Given the description of an element on the screen output the (x, y) to click on. 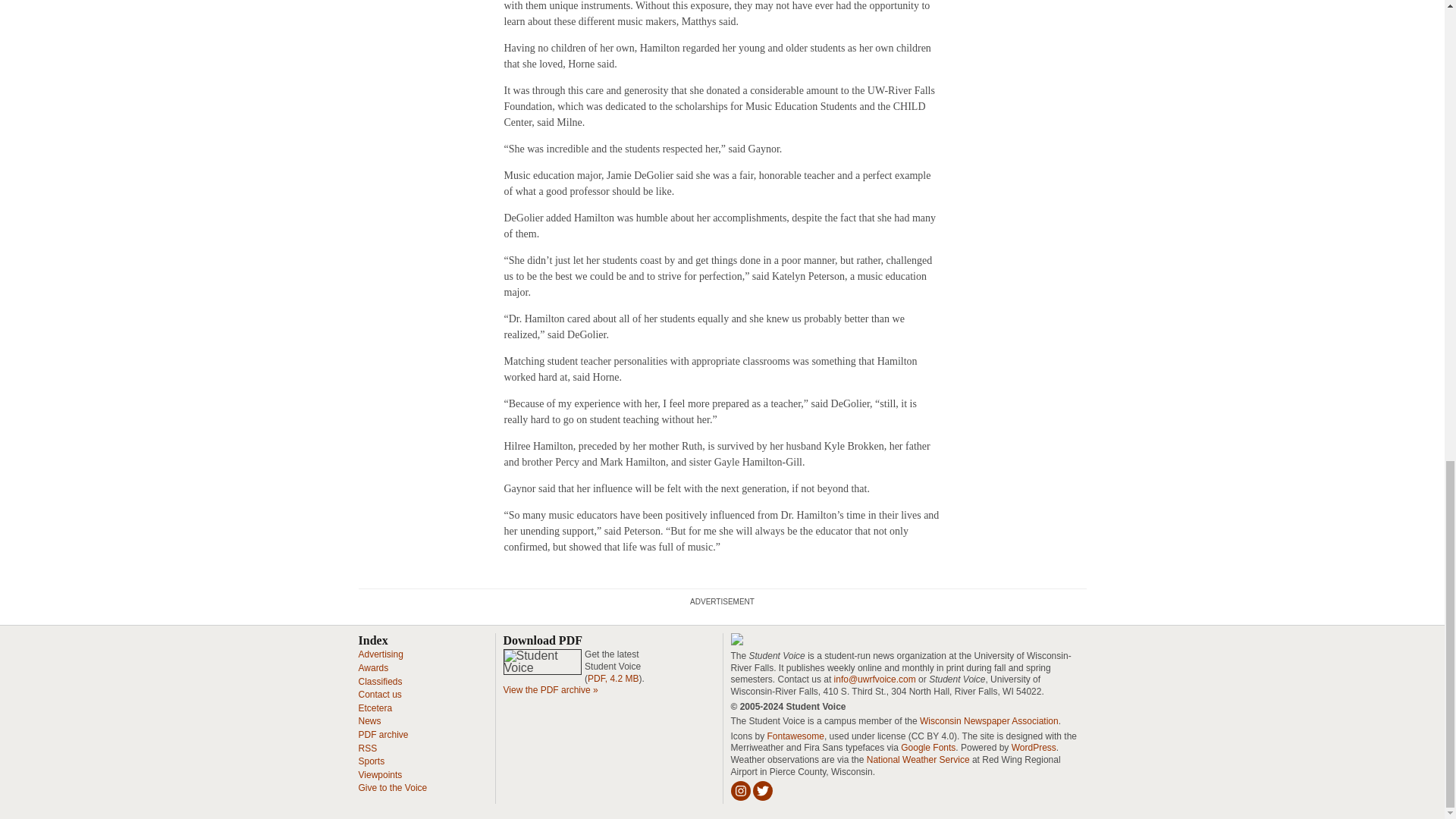
Contact us (379, 694)
Classifieds (379, 681)
Etcetera (374, 707)
RSS (367, 747)
News (369, 720)
Give to the Voice (392, 787)
Wisconsin Newspaper Association (989, 720)
Fontawesome (795, 736)
Advertising (380, 654)
PDF archive (382, 734)
PDF, 4.2 MB (613, 678)
Viewpoints (379, 774)
Contact us (379, 694)
Sports (371, 760)
Awards (373, 667)
